Given the description of an element on the screen output the (x, y) to click on. 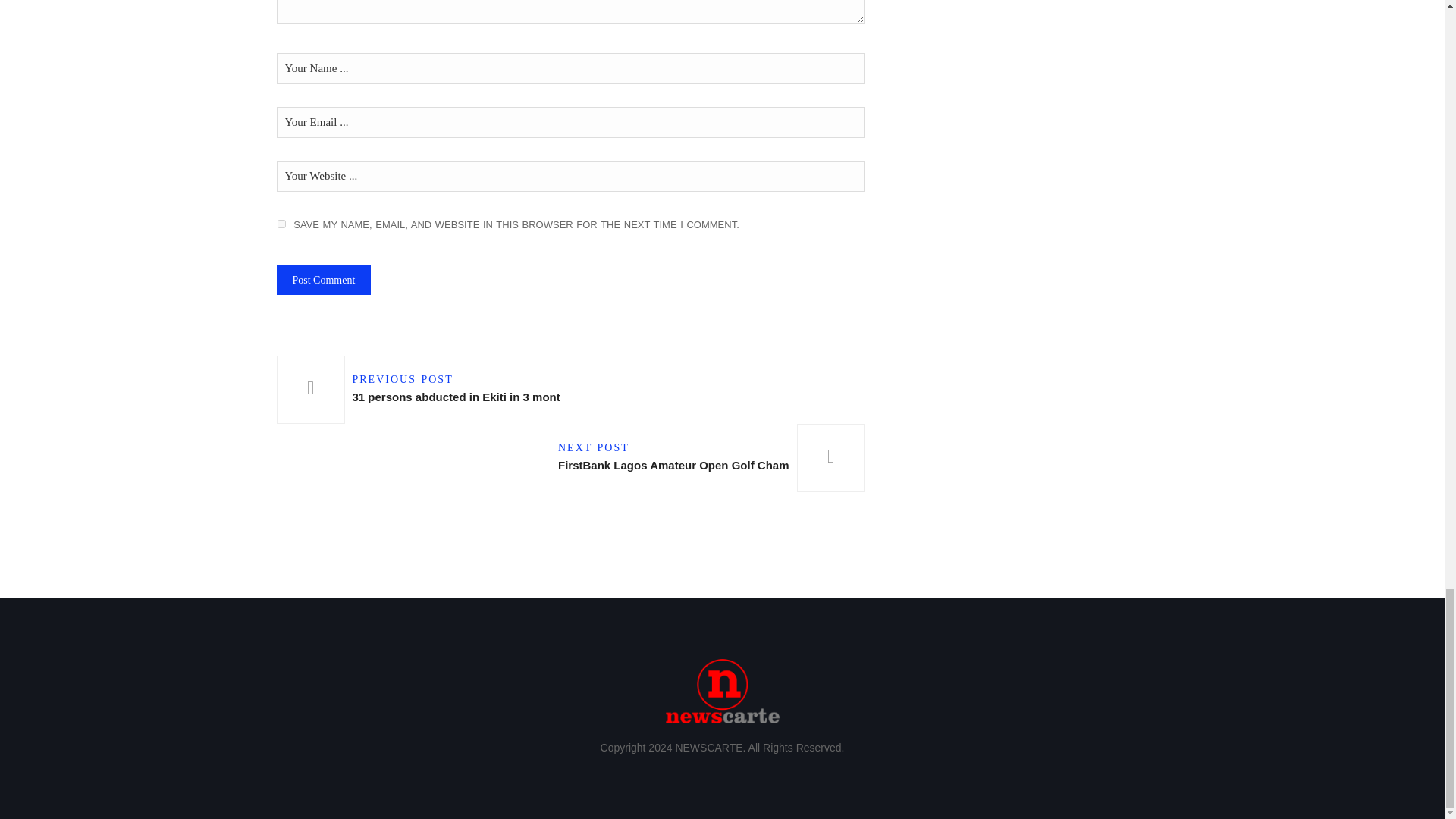
yes (280, 224)
31 persons abducted in Ekiti in 3 months, N19.5m ransom paid (707, 458)
Post Comment (421, 389)
Post Comment (323, 279)
